Given the description of an element on the screen output the (x, y) to click on. 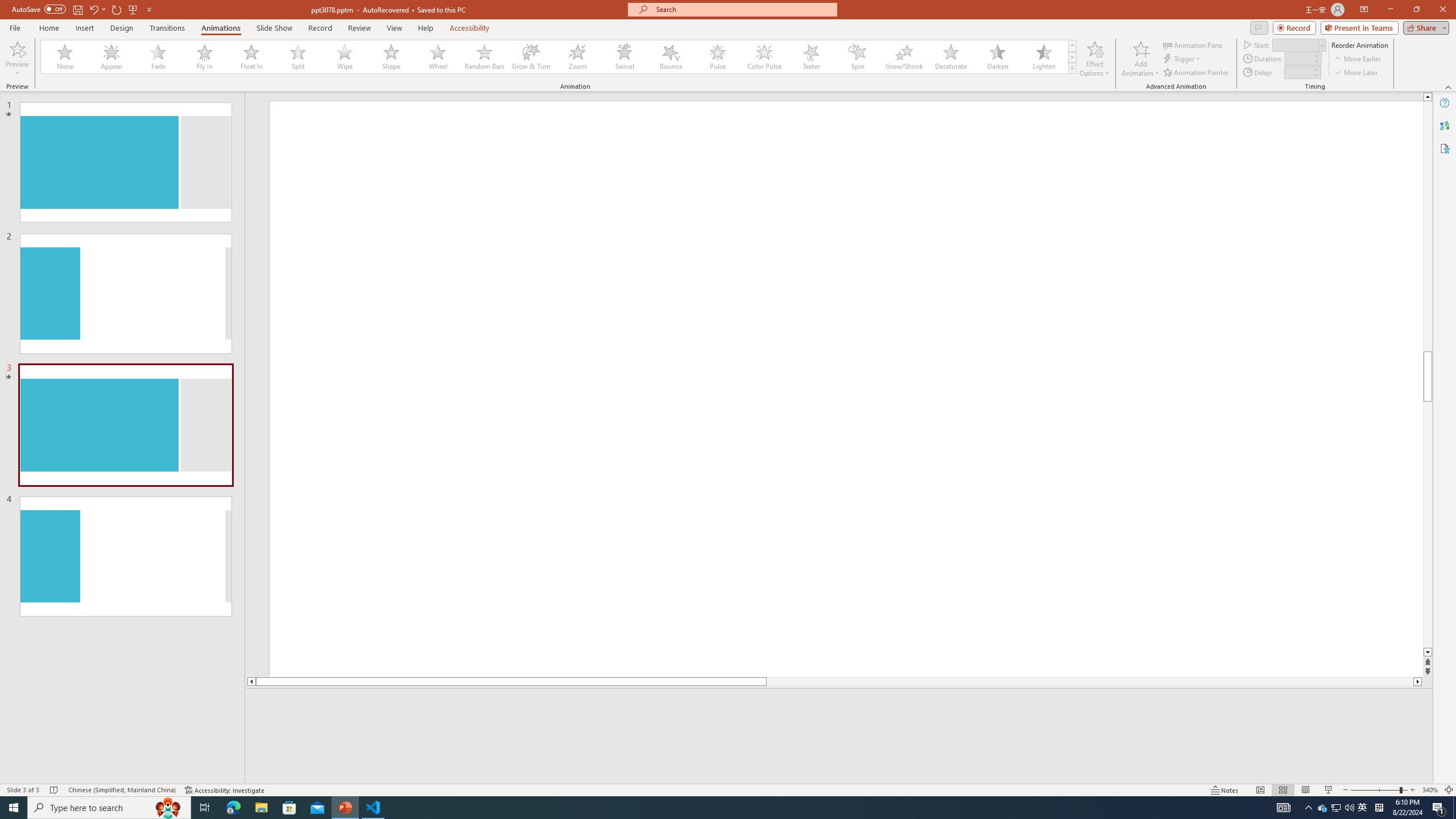
None (65, 56)
Shape (391, 56)
Color Pulse (764, 56)
Open (1321, 44)
Move Later (1355, 72)
Lighten (1043, 56)
Less (1315, 75)
Effect Options (1094, 58)
Preview (17, 58)
Page down (1427, 524)
Teeter (810, 56)
